Given the description of an element on the screen output the (x, y) to click on. 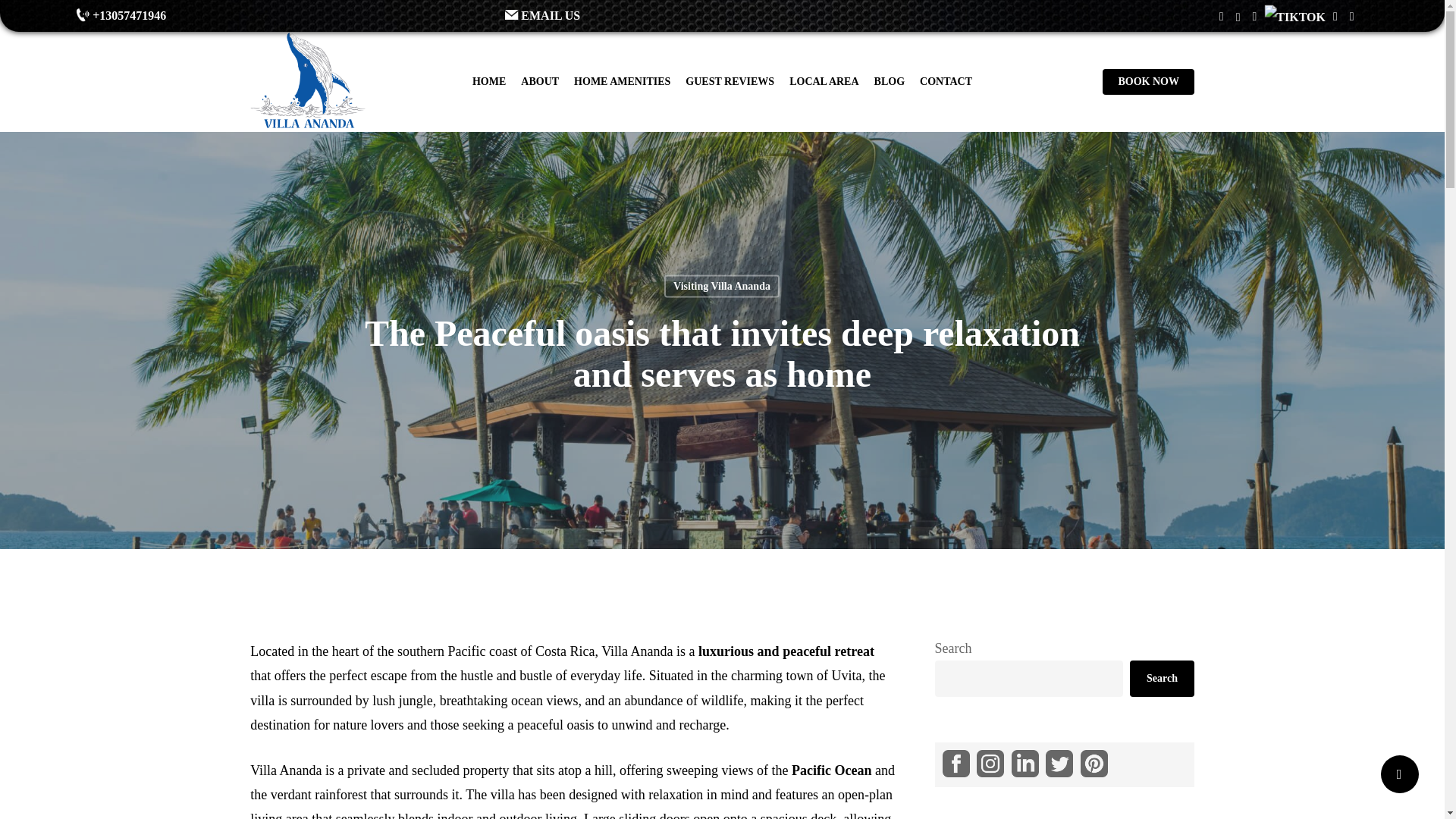
BOOK NOW (1147, 81)
Search (1161, 678)
luxurious and peaceful retreat (786, 651)
CONTACT (946, 81)
HOME (488, 81)
Visiting Villa Ananda (720, 285)
HOME AMENITIES (621, 81)
Pacific Ocean (833, 770)
EMAIL US (715, 15)
BLOG (889, 81)
